Given the description of an element on the screen output the (x, y) to click on. 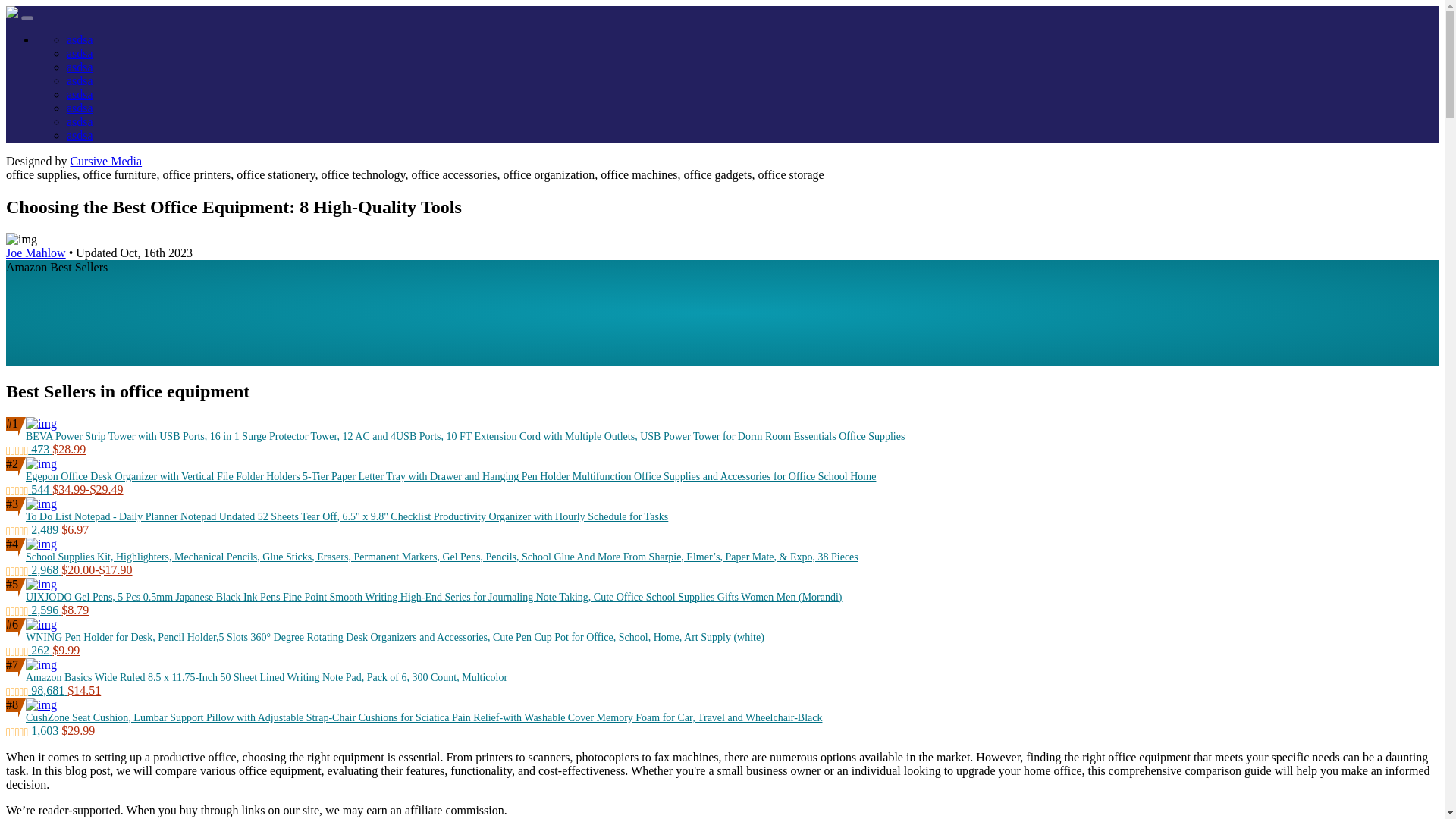
2,596 (33, 609)
262 (28, 649)
asdsa (79, 80)
2,489 (33, 529)
473 (28, 449)
asdsa (79, 39)
asdsa (79, 107)
Joe Mahlow (35, 252)
asdsa (79, 52)
asdsa (79, 66)
asdsa (79, 134)
asdsa (79, 121)
